Given the description of an element on the screen output the (x, y) to click on. 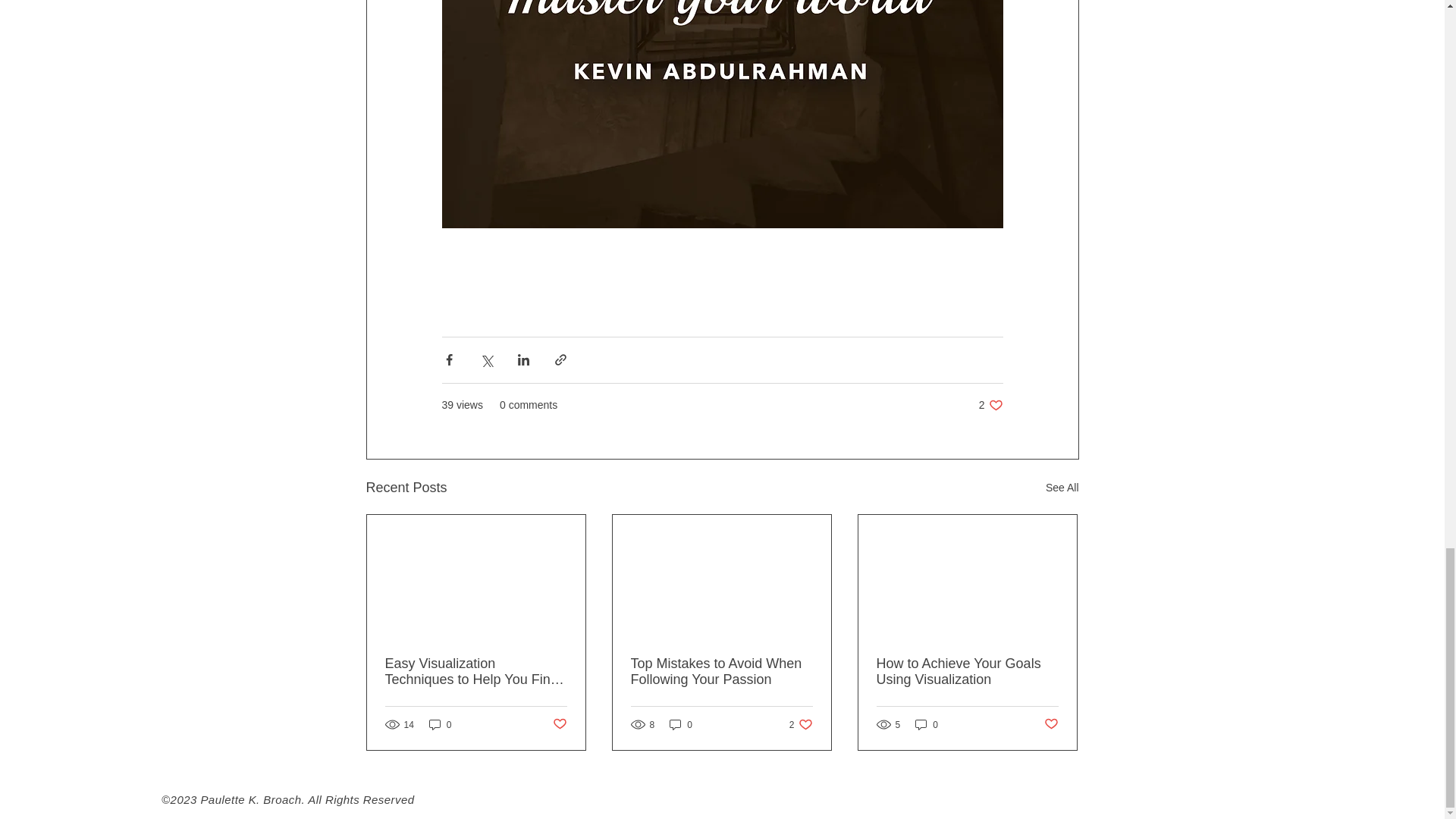
Post not marked as liked (558, 724)
See All (1061, 487)
0 (800, 724)
0 (926, 724)
Top Mistakes to Avoid When Following Your Passion (681, 724)
Post not marked as liked (721, 671)
0 (990, 405)
How to Achieve Your Goals Using Visualization (1050, 724)
